Given the description of an element on the screen output the (x, y) to click on. 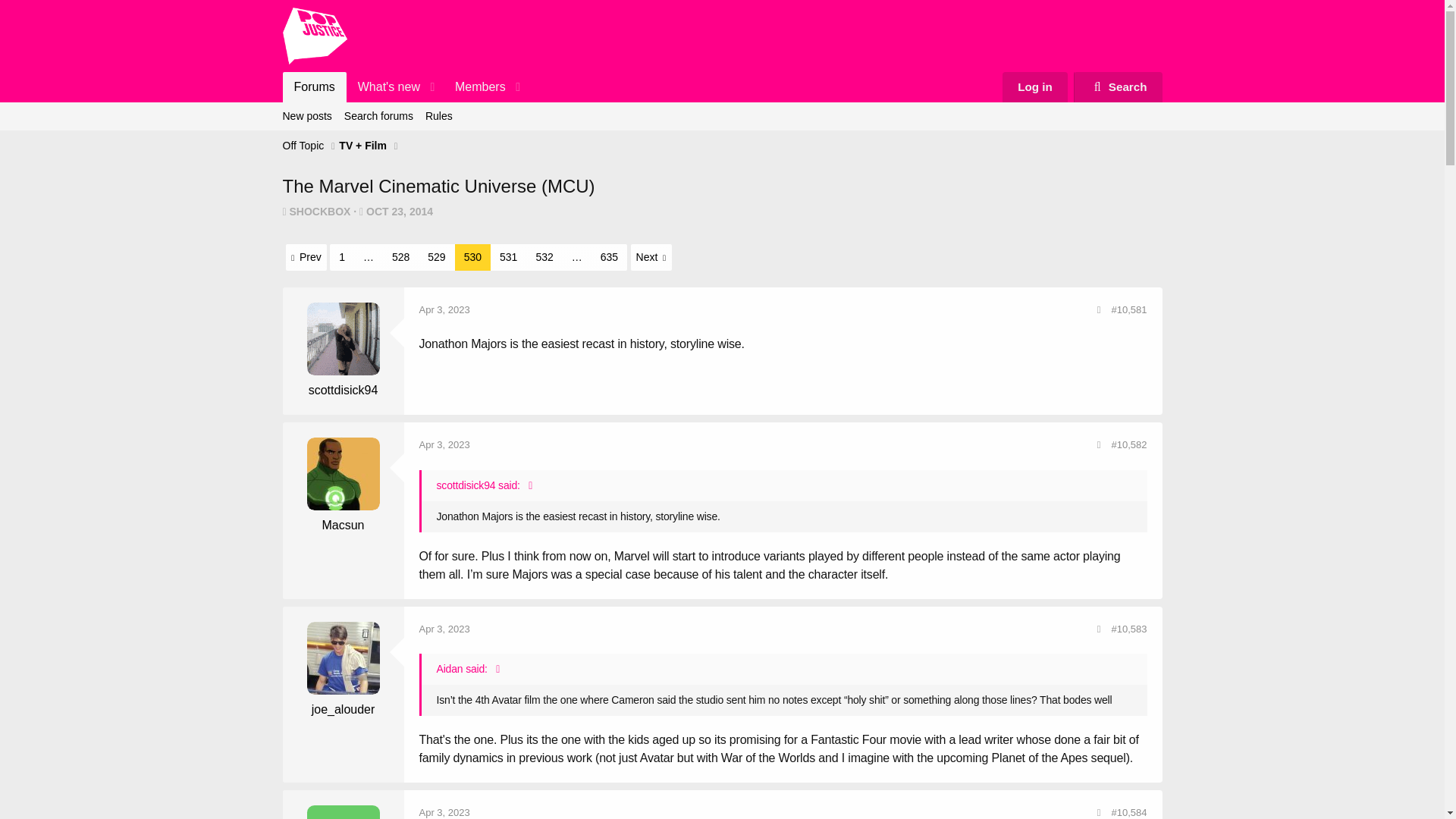
Oct 23, 2014 at 1:14 PM (399, 211)
SHOCKBOX (319, 211)
Off Topic (302, 145)
Forums (314, 87)
What's new (384, 87)
Rules (438, 116)
Log in (1035, 87)
New posts (306, 116)
Search (404, 87)
Search forums (1117, 87)
Apr 3, 2023 at 11:11 AM (378, 116)
OCT 23, 2014 (443, 309)
Apr 3, 2023 at 11:44 AM (399, 211)
